Given the description of an element on the screen output the (x, y) to click on. 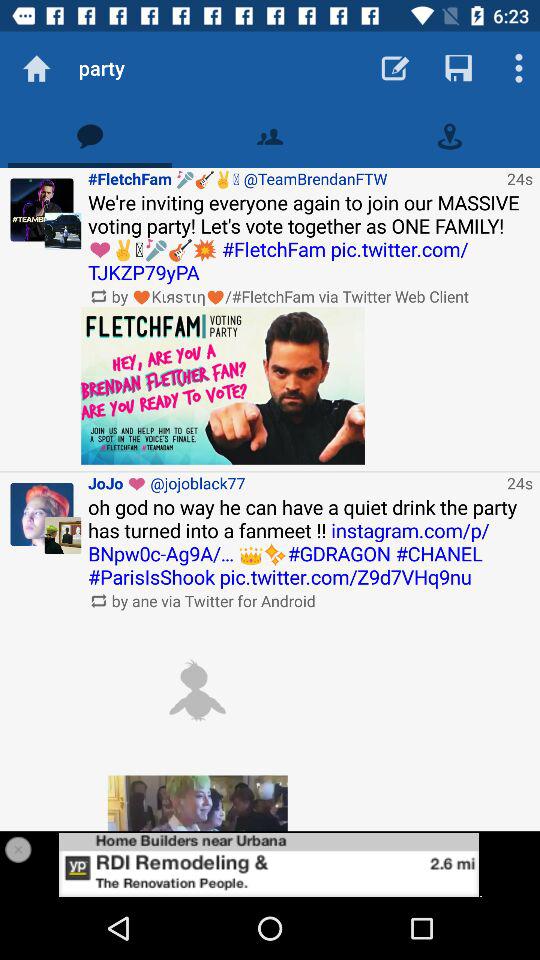
click we re inviting (310, 237)
